Given the description of an element on the screen output the (x, y) to click on. 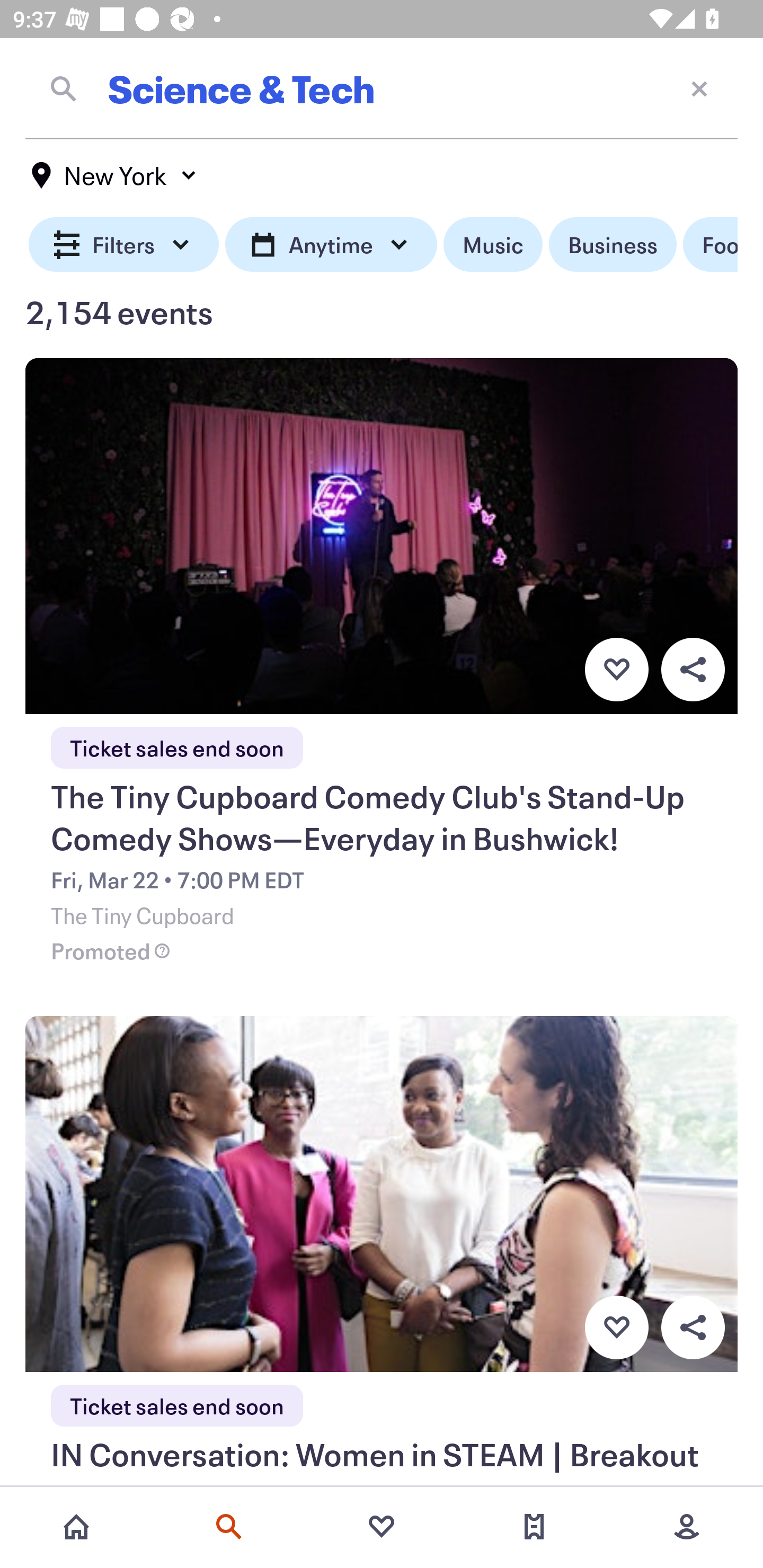
Science & Tech Close current screen (381, 88)
Close current screen (699, 88)
New York (114, 175)
Filters (123, 244)
Anytime (331, 244)
Music (492, 244)
Business (612, 244)
Favorite button (616, 669)
Overflow menu button (692, 669)
Favorite button (616, 1326)
Overflow menu button (692, 1326)
Home (76, 1526)
Search events (228, 1526)
Favorites (381, 1526)
Tickets (533, 1526)
More (686, 1526)
